Given the description of an element on the screen output the (x, y) to click on. 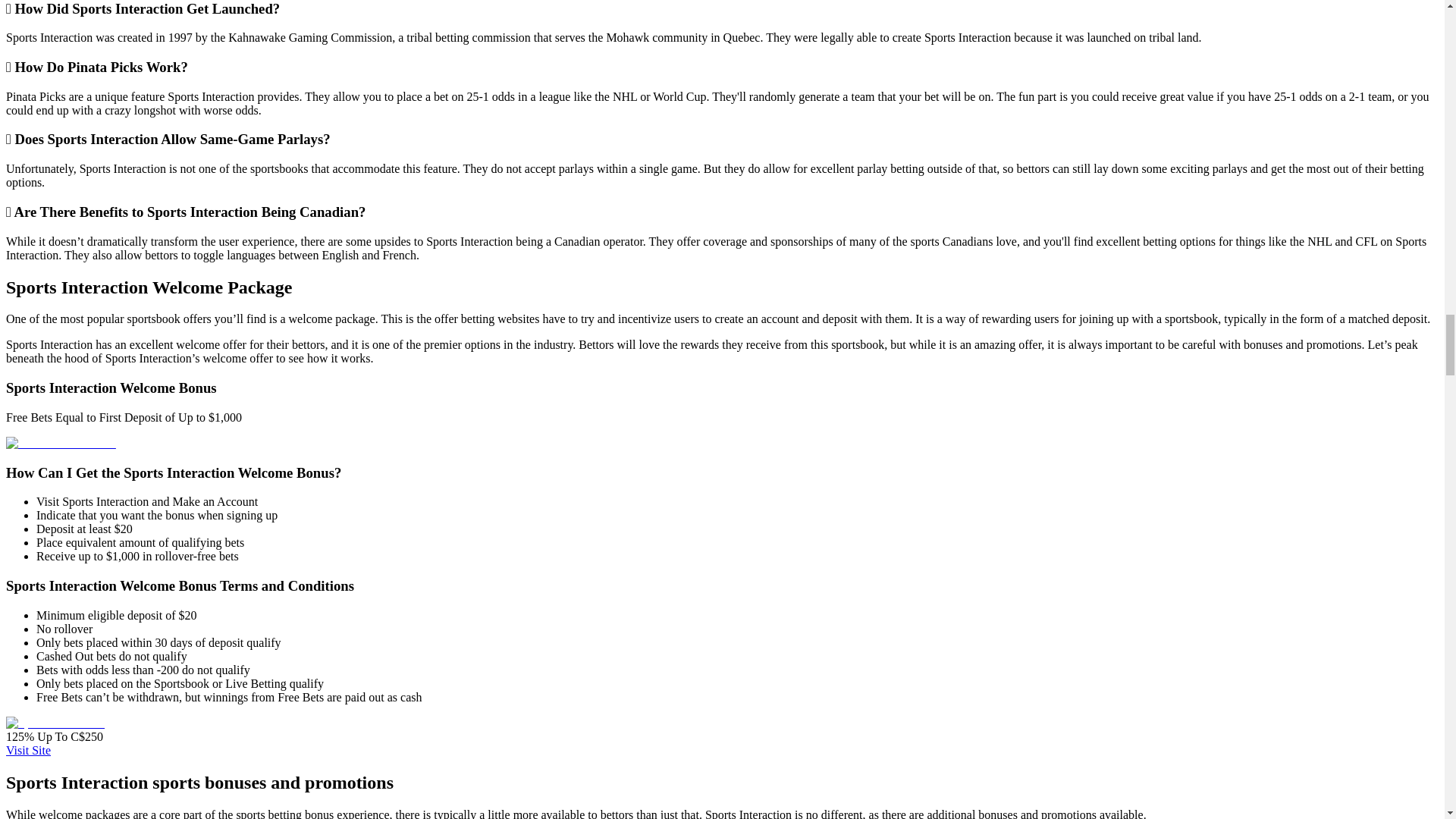
Sports Intercation (54, 723)
